Given the description of an element on the screen output the (x, y) to click on. 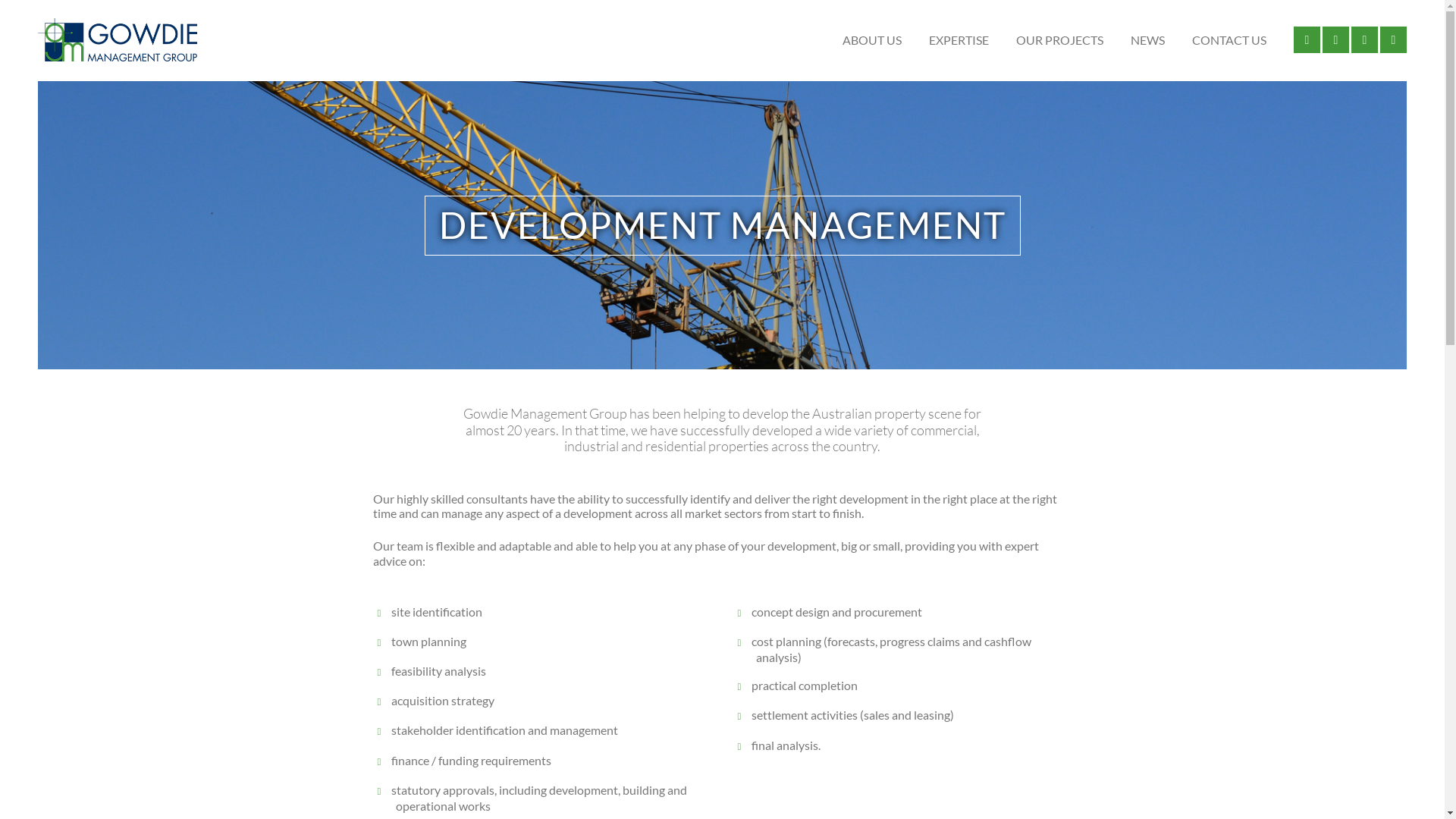
Gowdie Management Group Element type: text (117, 40)
Skip to primary navigation Element type: text (37, 0)
OUR PROJECTS Element type: text (1059, 40)
CONTACT US Element type: text (1229, 40)
NEWS Element type: text (1147, 40)
EXPERTISE Element type: text (958, 40)
ABOUT US Element type: text (871, 40)
